Given the description of an element on the screen output the (x, y) to click on. 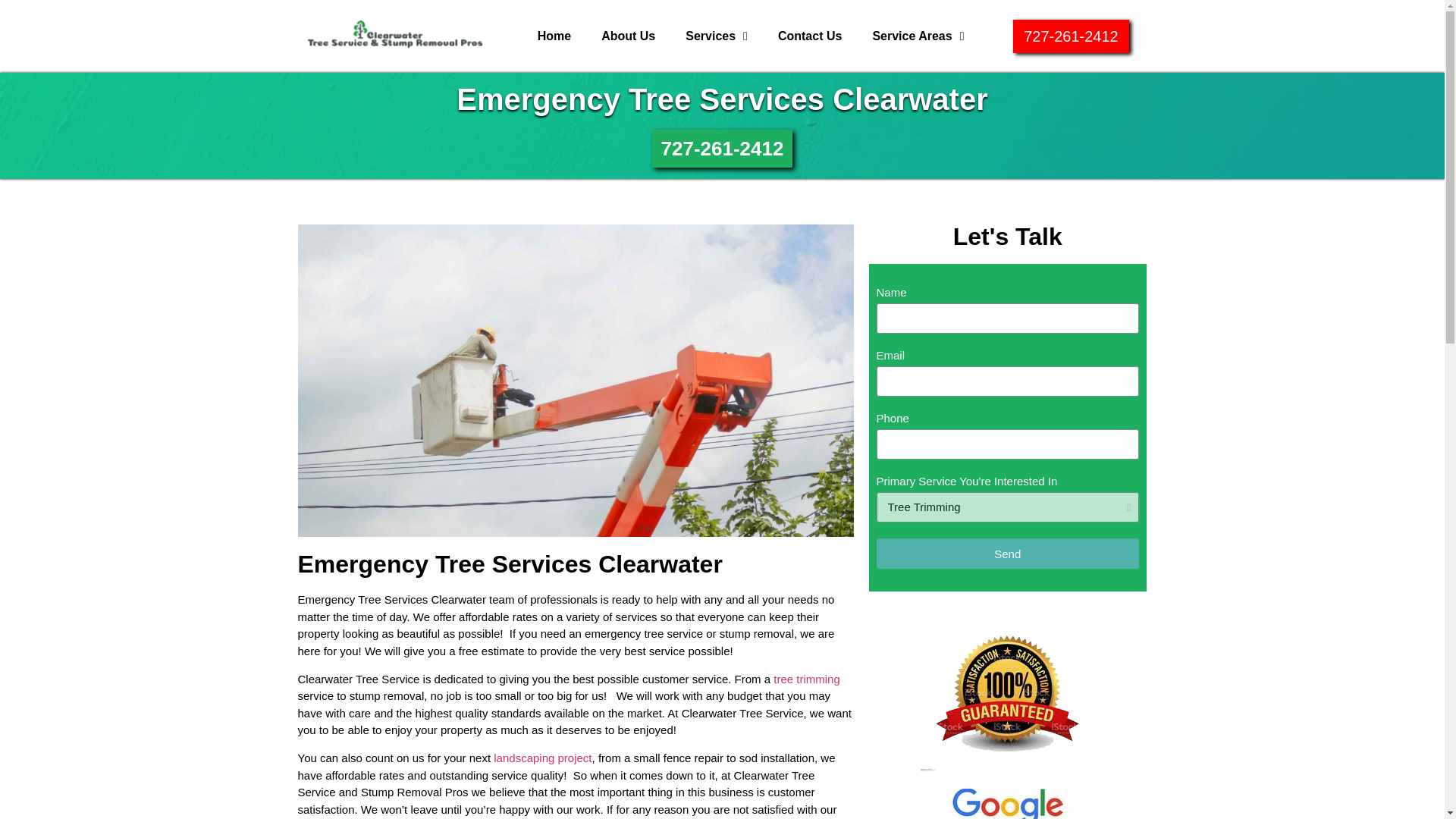
Contact Us (809, 36)
About Us (627, 36)
Service Areas (917, 36)
Services (715, 36)
Home (554, 36)
